Given the description of an element on the screen output the (x, y) to click on. 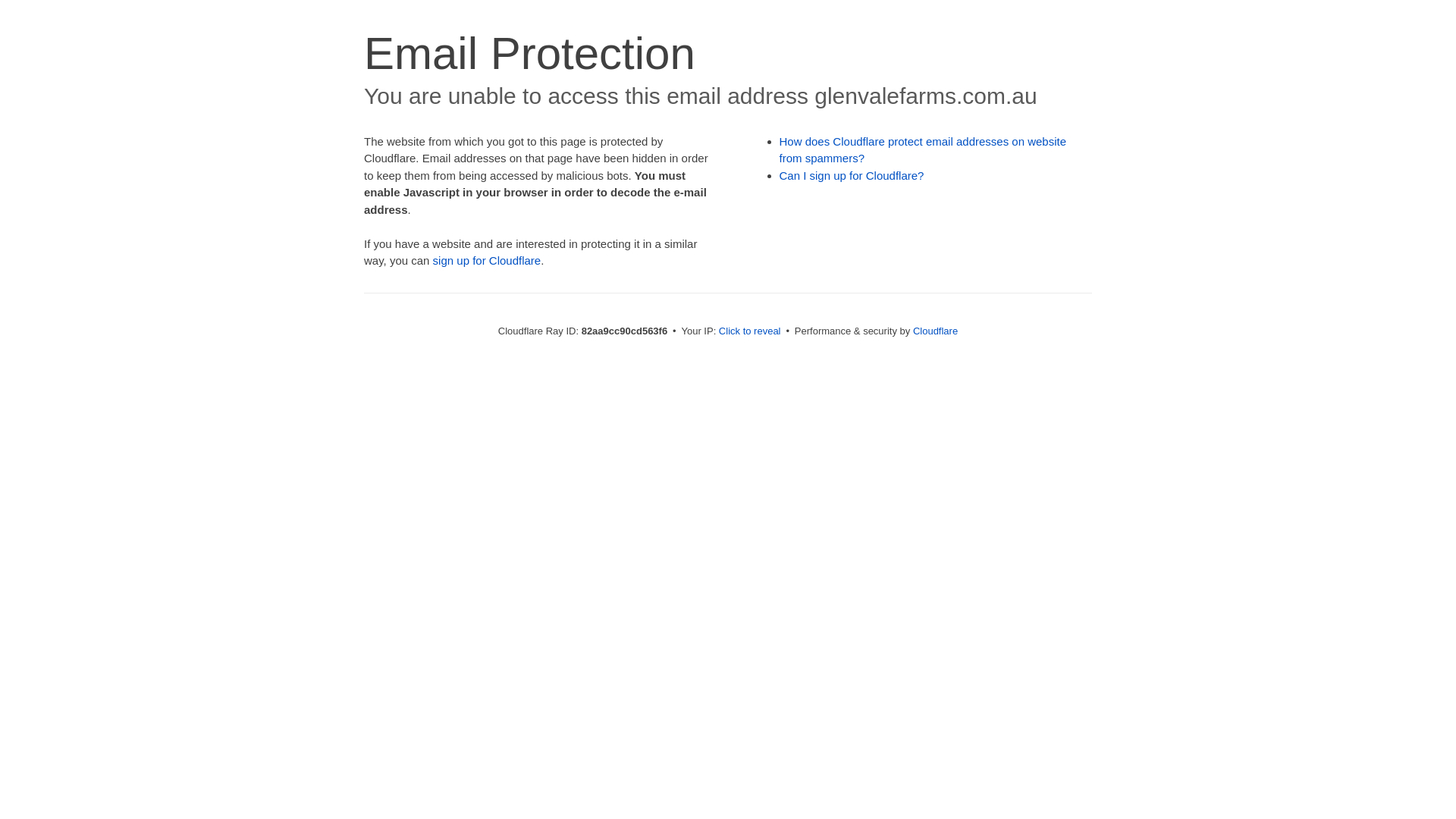
Can I sign up for Cloudflare? Element type: text (851, 175)
sign up for Cloudflare Element type: text (487, 260)
Click to reveal Element type: text (749, 330)
Cloudflare Element type: text (935, 330)
